Given the description of an element on the screen output the (x, y) to click on. 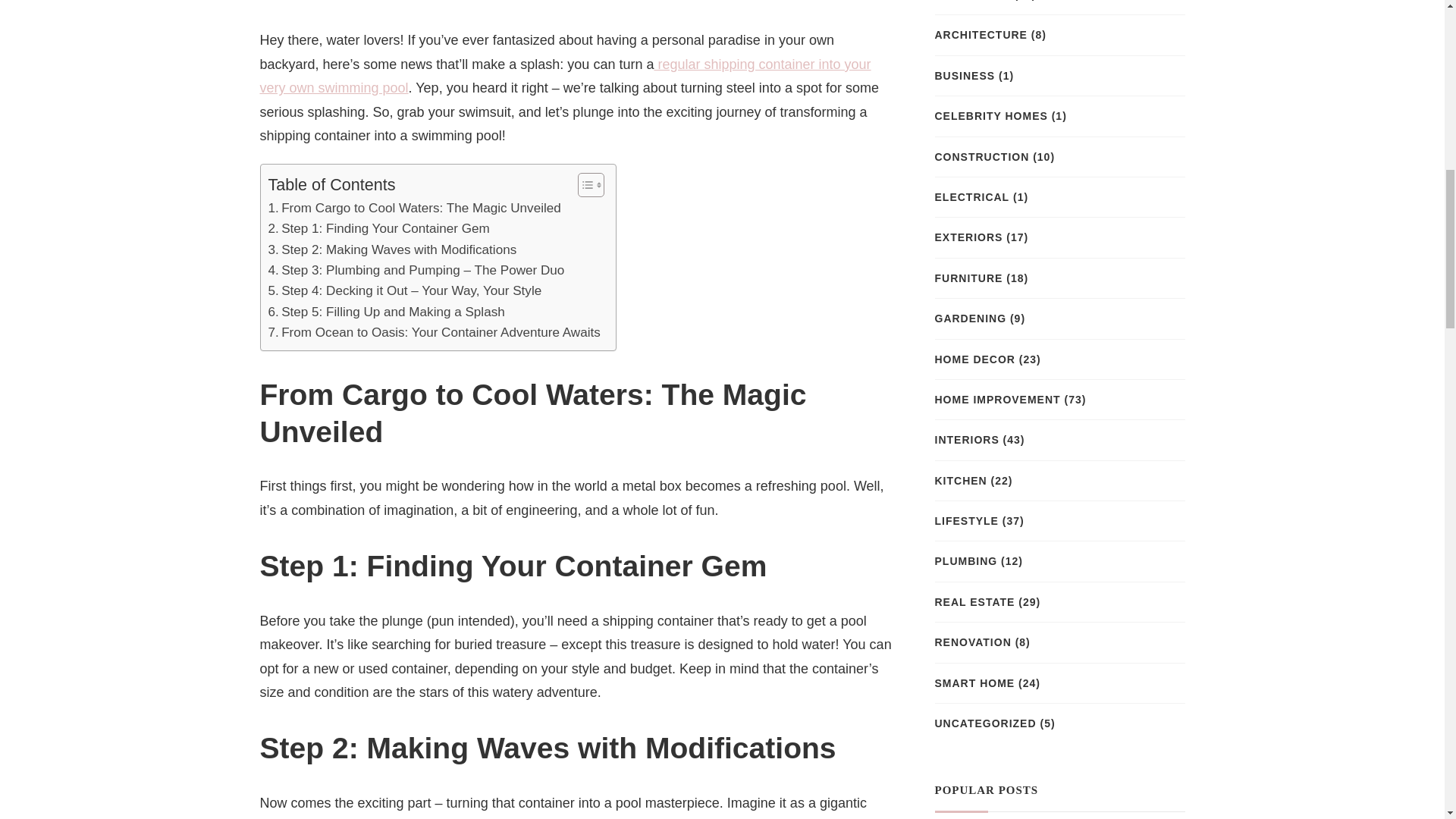
Step 5: Filling Up and Making a Splash (386, 312)
Step 2: Making Waves with Modifications (391, 249)
Step 2: Making Waves with Modifications (391, 249)
From Ocean to Oasis: Your Container Adventure Awaits (433, 332)
 regular shipping container into your very own swimming pool (564, 76)
Step 1: Finding Your Container Gem (378, 228)
Step 1: Finding Your Container Gem (378, 228)
From Cargo to Cool Waters: The Magic Unveiled (413, 208)
From Cargo to Cool Waters: The Magic Unveiled (413, 208)
